Given the description of an element on the screen output the (x, y) to click on. 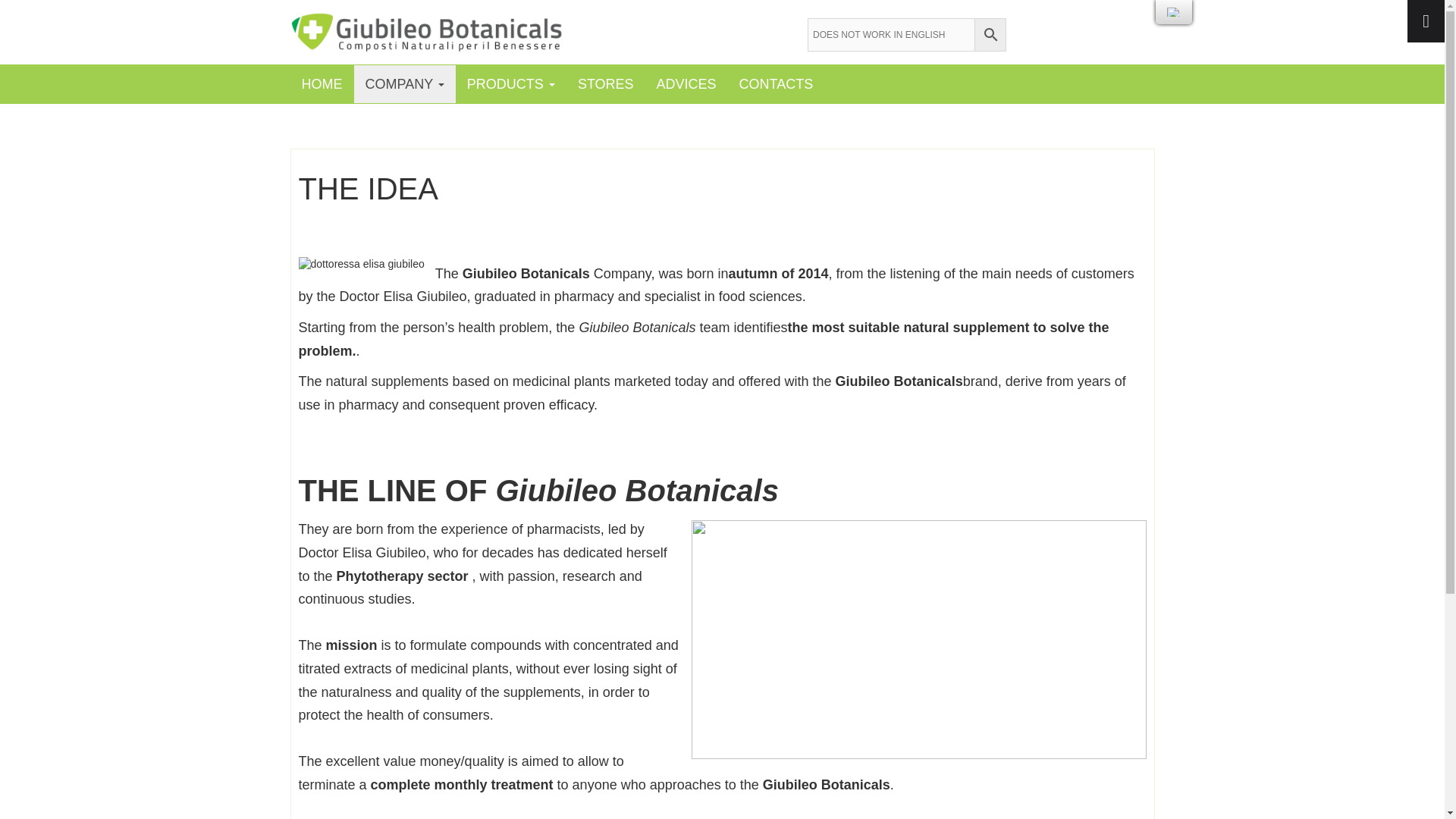
PRODUCTS (510, 84)
STORES (605, 84)
CONTACTS (776, 84)
COMPANY (403, 84)
ADVICES (686, 84)
HOME (321, 84)
